Given the description of an element on the screen output the (x, y) to click on. 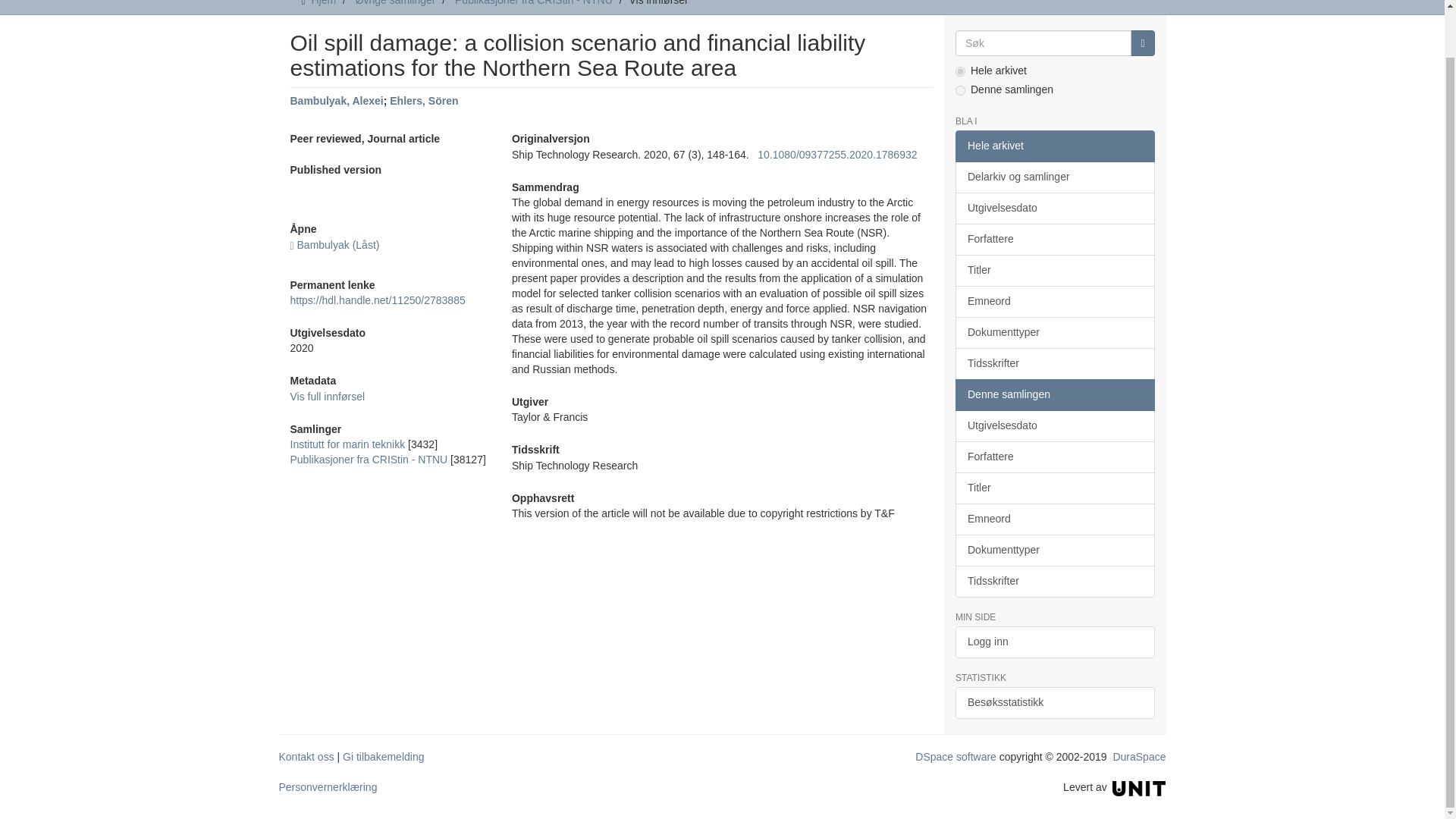
Utgivelsesdato (1054, 208)
Delarkiv og samlinger (1054, 177)
Publikasjoner fra CRIStin - NTNU (367, 459)
Bambulyak, Alexei (335, 101)
Forfattere (1054, 239)
Institutt for marin teknikk (346, 444)
Hjem (323, 2)
Titler (1054, 270)
Publikasjoner fra CRIStin - NTNU (533, 2)
Hele arkivet (1054, 146)
Unit (1139, 787)
